Given the description of an element on the screen output the (x, y) to click on. 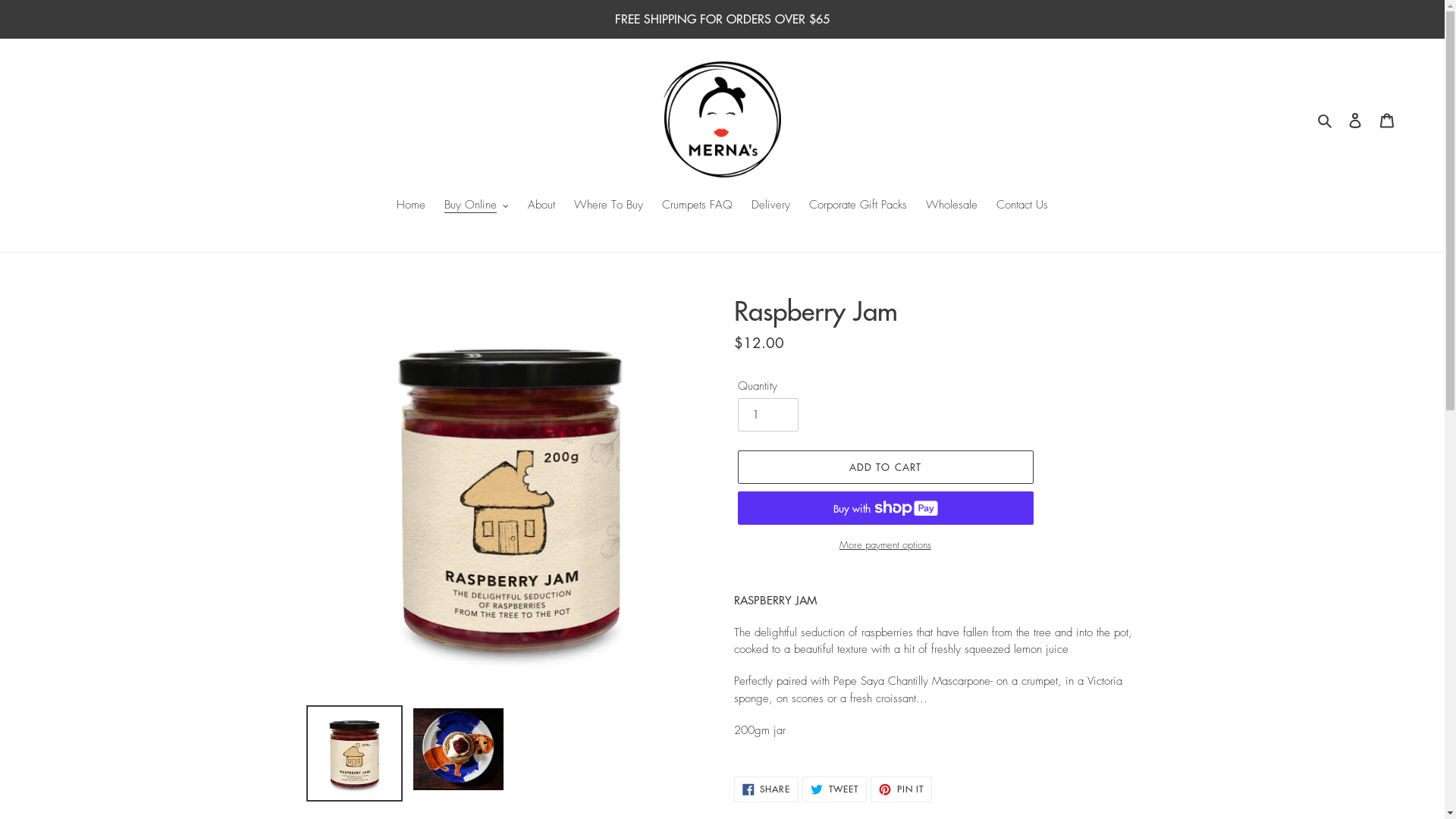
Buy Online Element type: text (476, 206)
TWEET
TWEET ON TWITTER Element type: text (834, 789)
Log in Element type: text (1355, 119)
Delivery Element type: text (770, 206)
ADD TO CART Element type: text (884, 466)
Home Element type: text (411, 206)
FREE SHIPPING FOR ORDERS OVER $65 Element type: text (722, 18)
Cart Element type: text (1386, 119)
PIN IT
PIN ON PINTEREST Element type: text (900, 789)
Corporate Gift Packs Element type: text (857, 206)
Where To Buy Element type: text (608, 206)
Wholesale Element type: text (951, 206)
Contact Us Element type: text (1021, 206)
Search Element type: text (1325, 118)
More payment options Element type: text (884, 544)
Crumpets FAQ Element type: text (697, 206)
SHARE
SHARE ON FACEBOOK Element type: text (766, 789)
About Element type: text (541, 206)
